Given the description of an element on the screen output the (x, y) to click on. 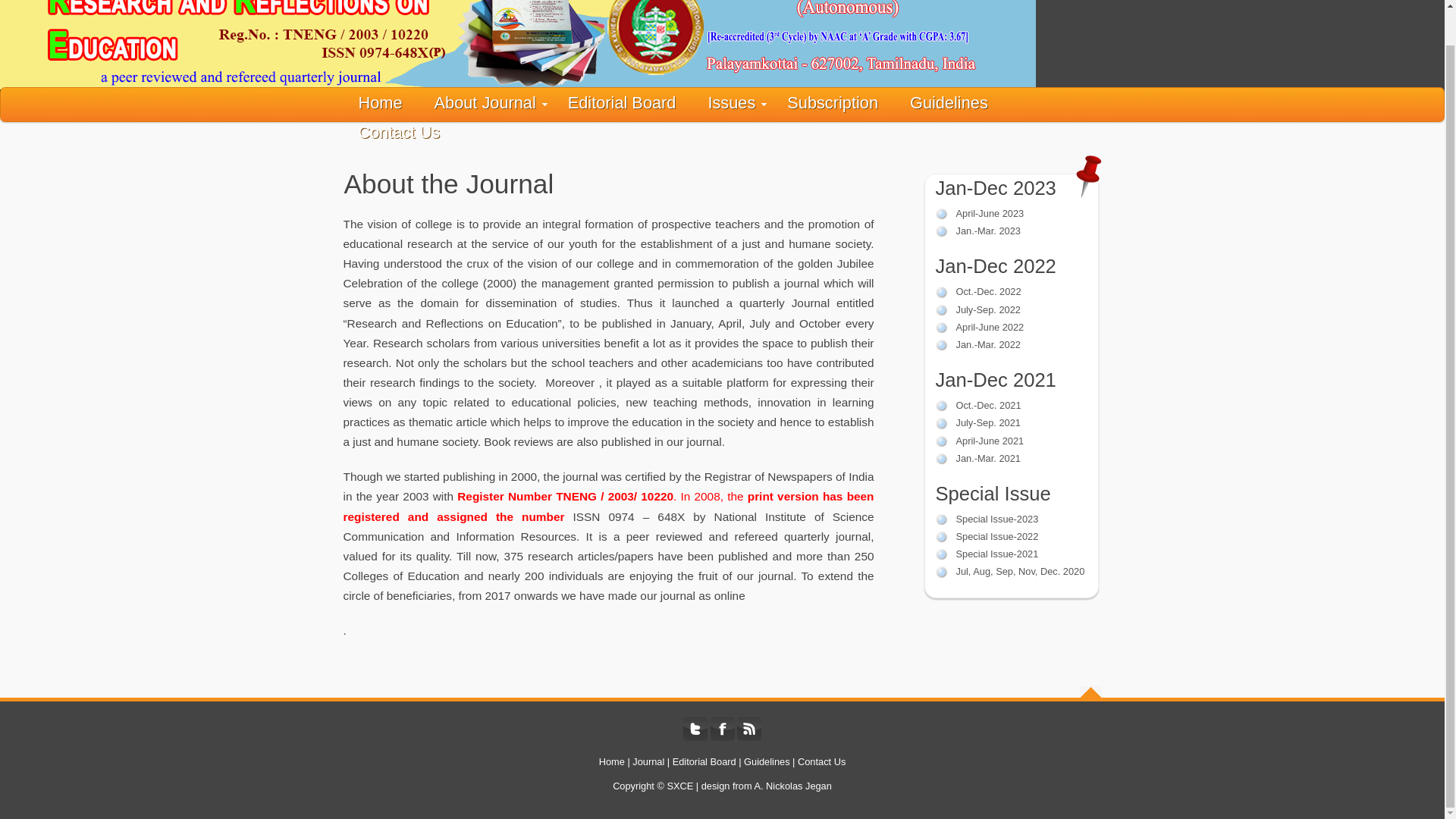
Issues (731, 102)
Home (379, 102)
About Journal (485, 102)
Scroll to the top (1091, 692)
Editorial Board (622, 102)
